Given the description of an element on the screen output the (x, y) to click on. 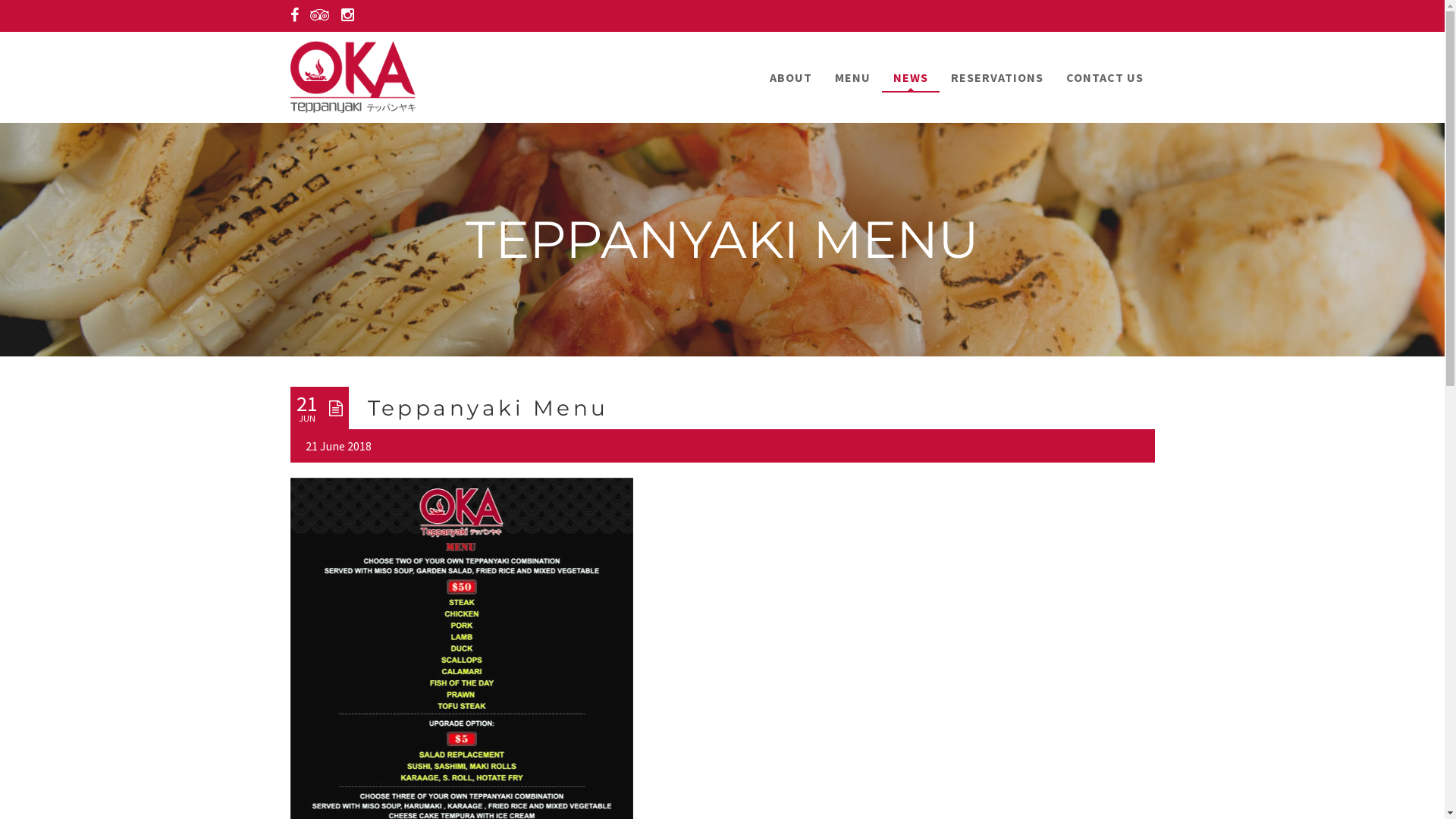
CONTACT US Element type: text (1104, 77)
21 June 2018 Element type: text (337, 445)
RESERVATIONS Element type: text (996, 77)
ABOUT Element type: text (790, 77)
NEWS Element type: text (909, 77)
MENU Element type: text (852, 77)
Teppanyaki Menu Element type: text (487, 407)
